Given the description of an element on the screen output the (x, y) to click on. 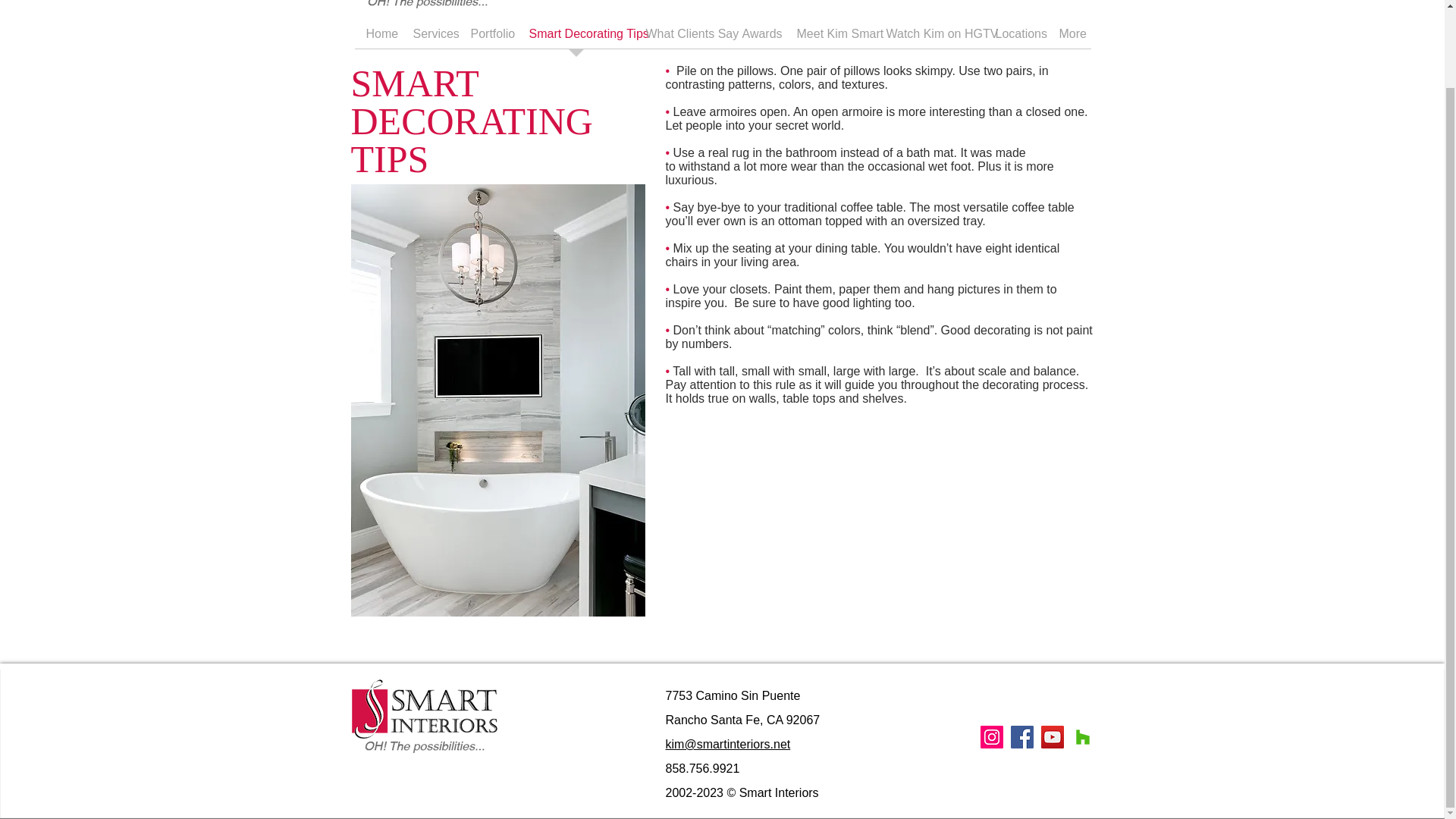
Meet Kim Smart (830, 38)
Services (430, 38)
Watch Kim on HGTV (929, 38)
Home (378, 38)
2014Logo21.png (424, 717)
Portfolio (489, 38)
What Clients Say (681, 38)
Smart Decorating Tips (574, 38)
Awards (758, 38)
2014Logo21.png (427, 6)
